Given the description of an element on the screen output the (x, y) to click on. 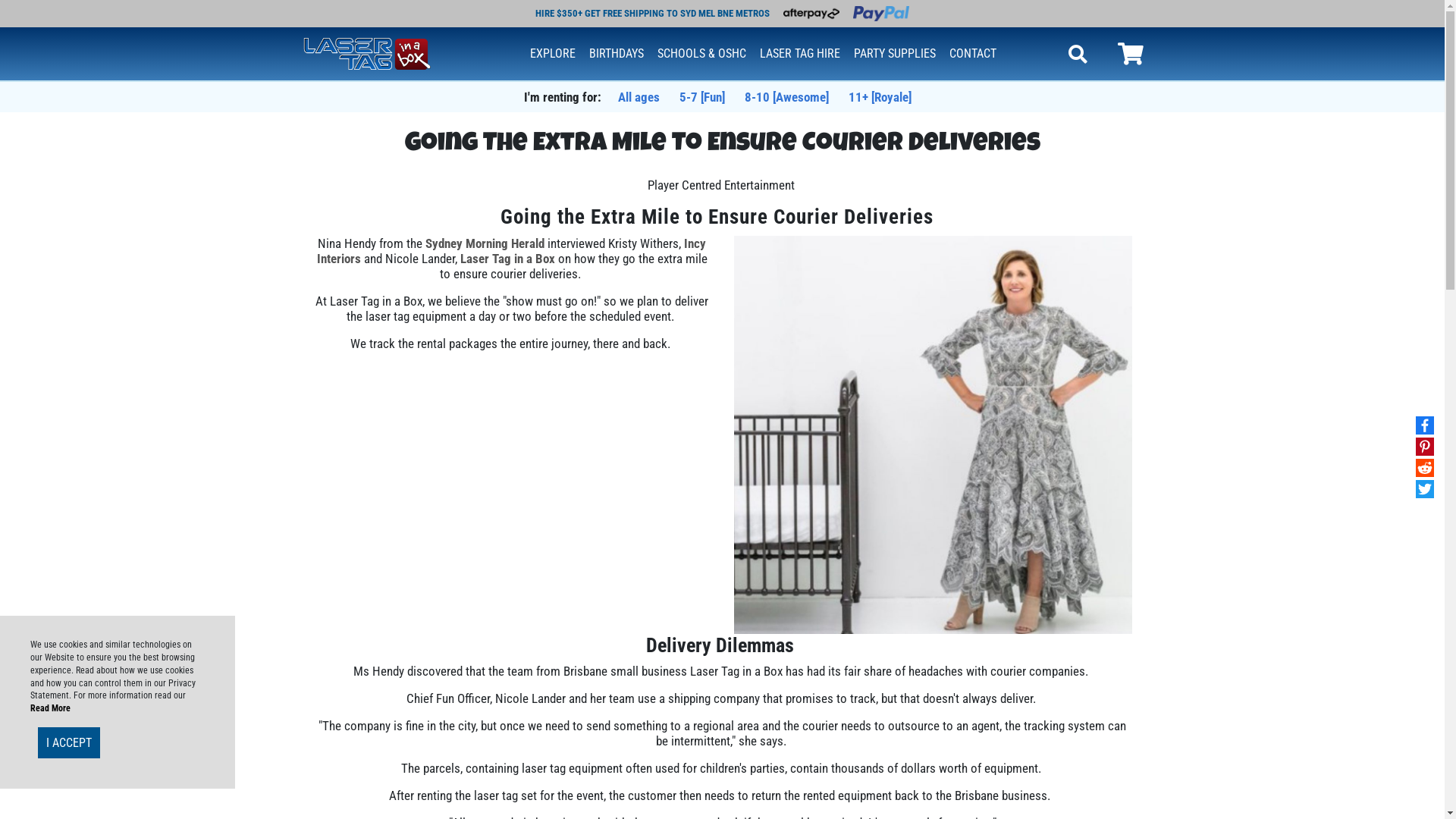
Read More Element type: text (50, 707)
BIRTHDAYS Element type: text (616, 53)
All ages Element type: text (638, 96)
kids party hire Element type: hover (367, 51)
Laser Tag in a Box Element type: text (506, 258)
11+ [Royale] Element type: text (879, 96)
Sydney Morning Herald Element type: text (484, 243)
PARTY SUPPLIES Element type: text (894, 53)
I ACCEPT Element type: text (68, 742)
SCHOOLS & OSHC Element type: text (701, 53)
EXPLORE Element type: text (552, 53)
8-10 [Awesome] Element type: text (786, 96)
CONTACT Element type: text (972, 53)
LASER TAG HIRE Element type: text (800, 53)
Incy Interiors Element type: text (511, 250)
5-7 [Fun] Element type: text (701, 96)
